Given the description of an element on the screen output the (x, y) to click on. 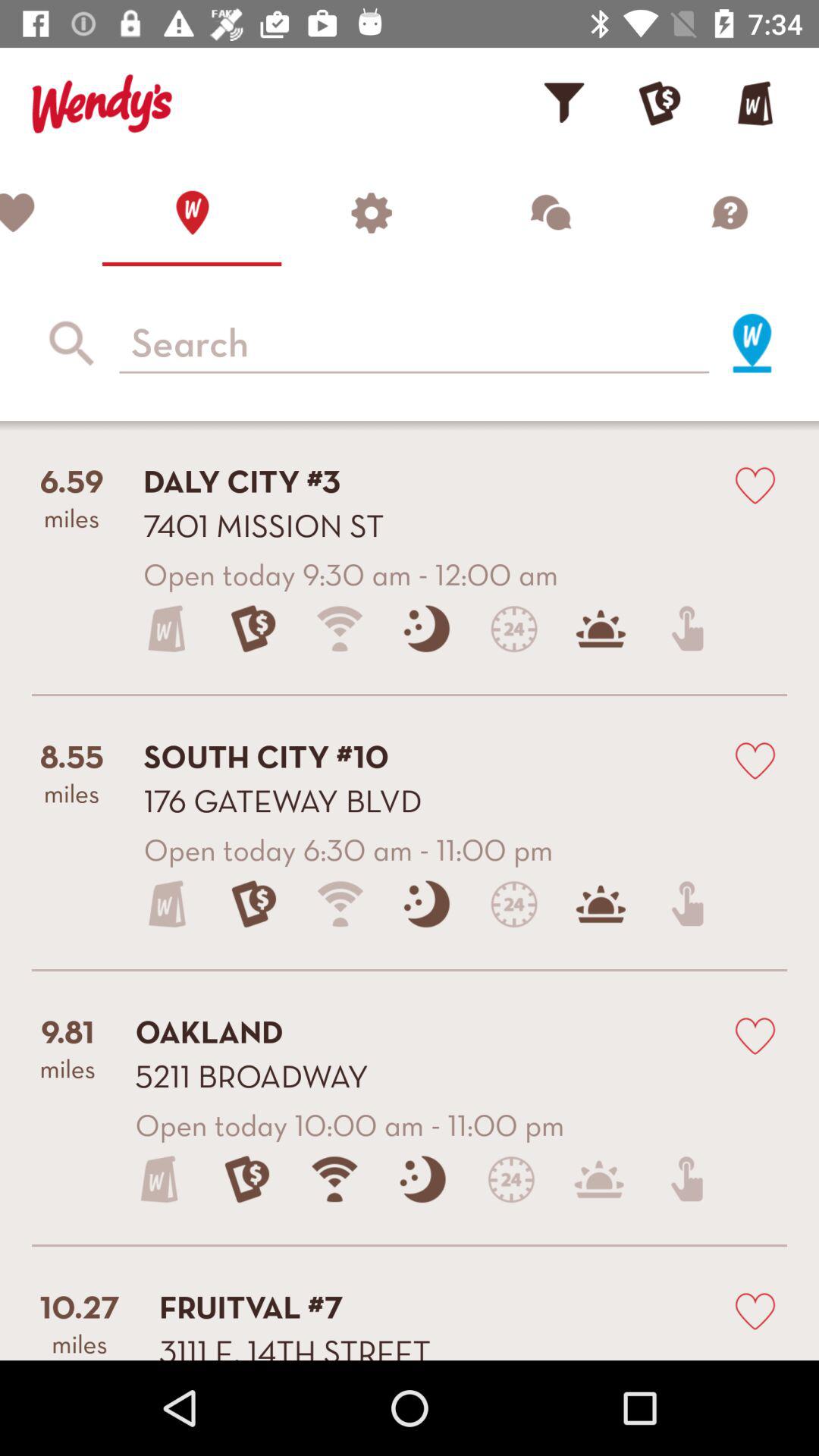
save location to liked locations (755, 1035)
